Given the description of an element on the screen output the (x, y) to click on. 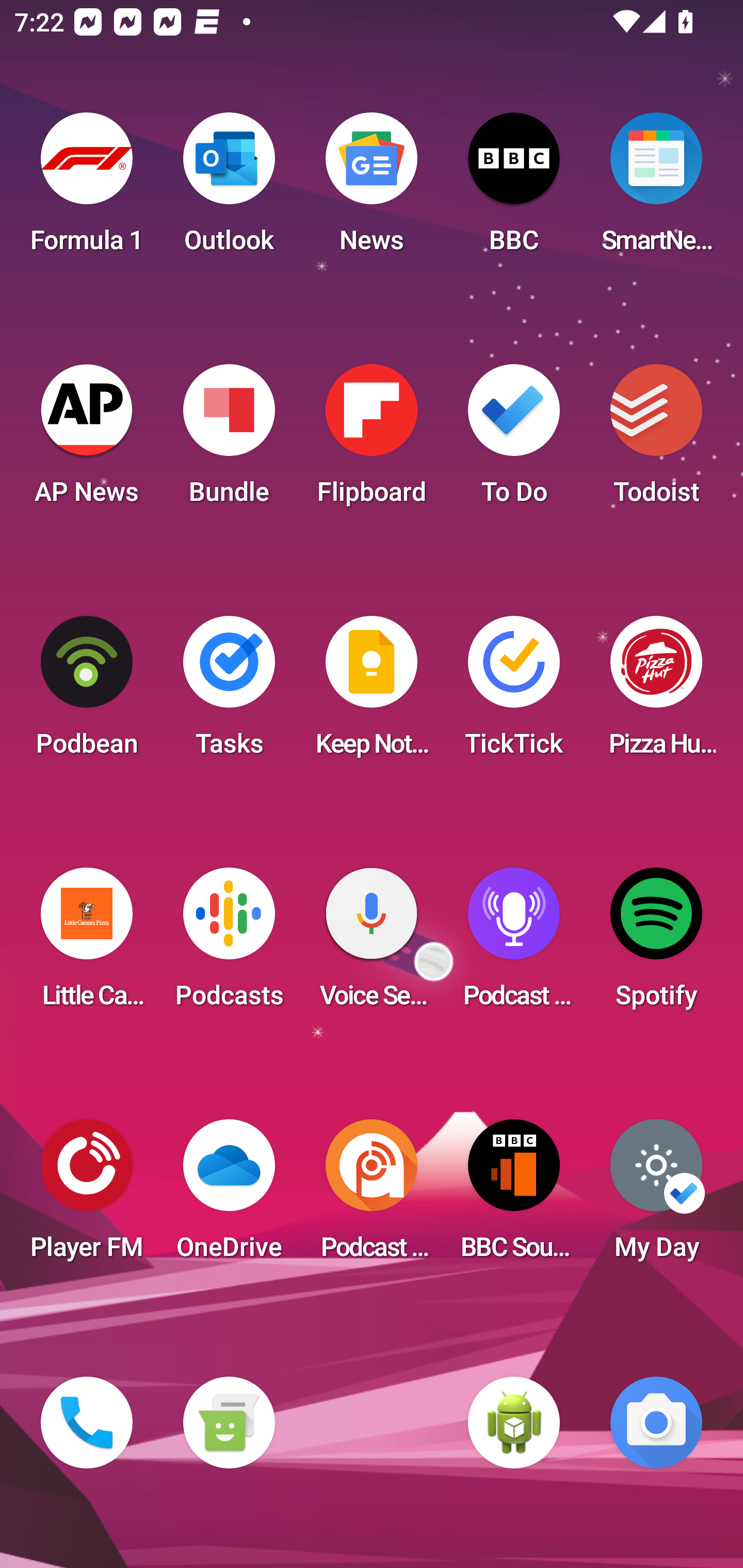
Formula 1 (86, 188)
Outlook (228, 188)
News (371, 188)
BBC (513, 188)
SmartNews (656, 188)
AP News (86, 440)
Bundle (228, 440)
Flipboard (371, 440)
To Do (513, 440)
Todoist (656, 440)
Podbean (86, 692)
Tasks (228, 692)
Keep Notes (371, 692)
TickTick (513, 692)
Pizza Hut HK & Macau (656, 692)
Little Caesars Pizza (86, 943)
Podcasts (228, 943)
Voice Search (371, 943)
Podcast Player (513, 943)
Spotify (656, 943)
Player FM (86, 1195)
OneDrive (228, 1195)
Podcast Addict (371, 1195)
BBC Sounds (513, 1195)
My Day (656, 1195)
Phone (86, 1422)
Messaging (228, 1422)
WebView Browser Tester (513, 1422)
Camera (656, 1422)
